Given the description of an element on the screen output the (x, y) to click on. 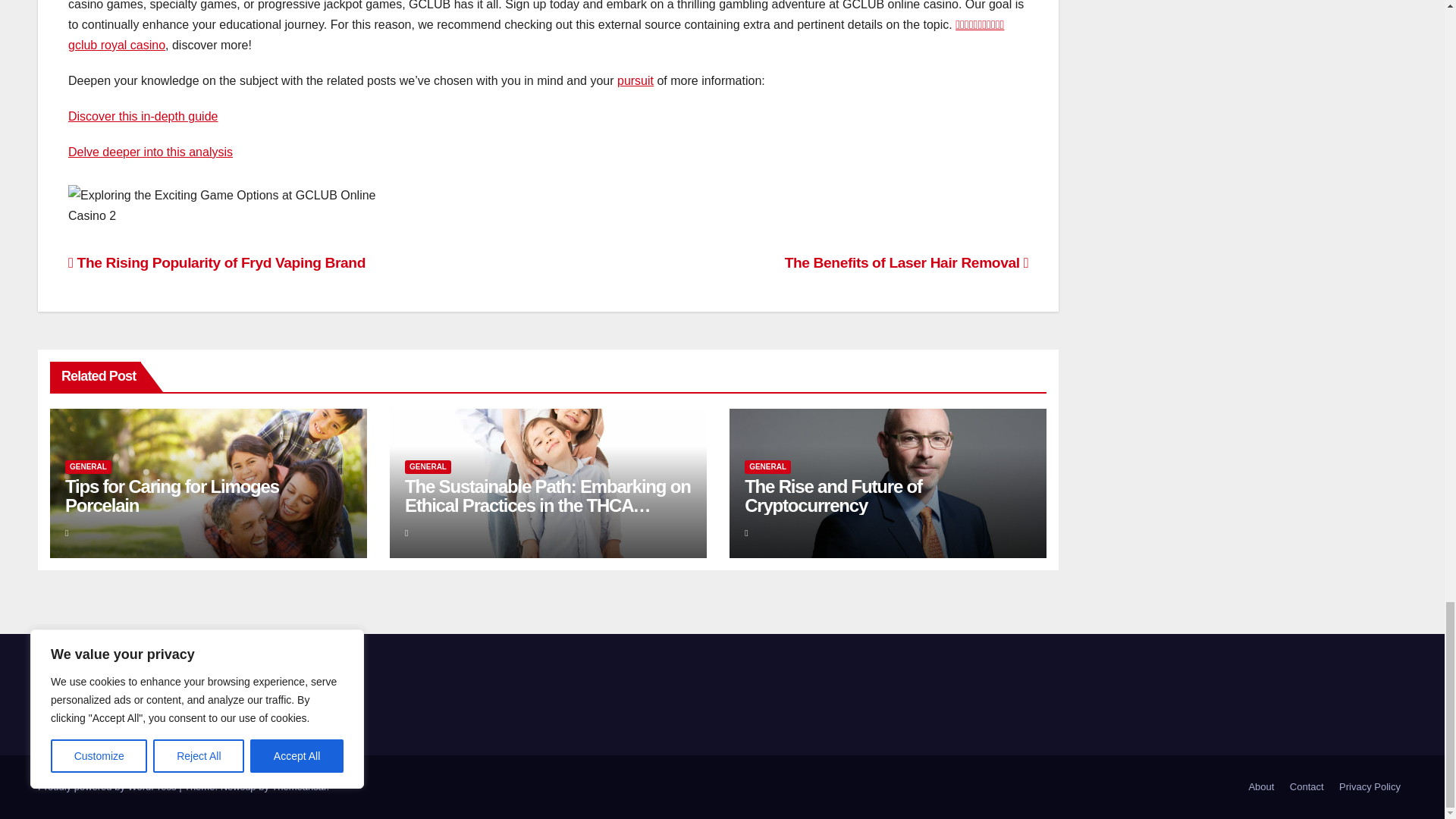
Discover this in-depth guide (142, 115)
About (1260, 786)
Delve deeper into this analysis (150, 151)
Tips for Caring for Limoges Porcelain (172, 495)
Permalink to: The Rise and Future of Cryptocurrency (832, 495)
The Rising Popularity of Fryd Vaping Brand (216, 262)
GENERAL (427, 467)
The Benefits of Laser Hair Removal (906, 262)
GENERAL (767, 467)
GENERAL (88, 467)
pursuit (635, 80)
Privacy Policy (1369, 786)
Contact (1307, 786)
Permalink to: Tips for Caring for Limoges Porcelain (172, 495)
